Given the description of an element on the screen output the (x, y) to click on. 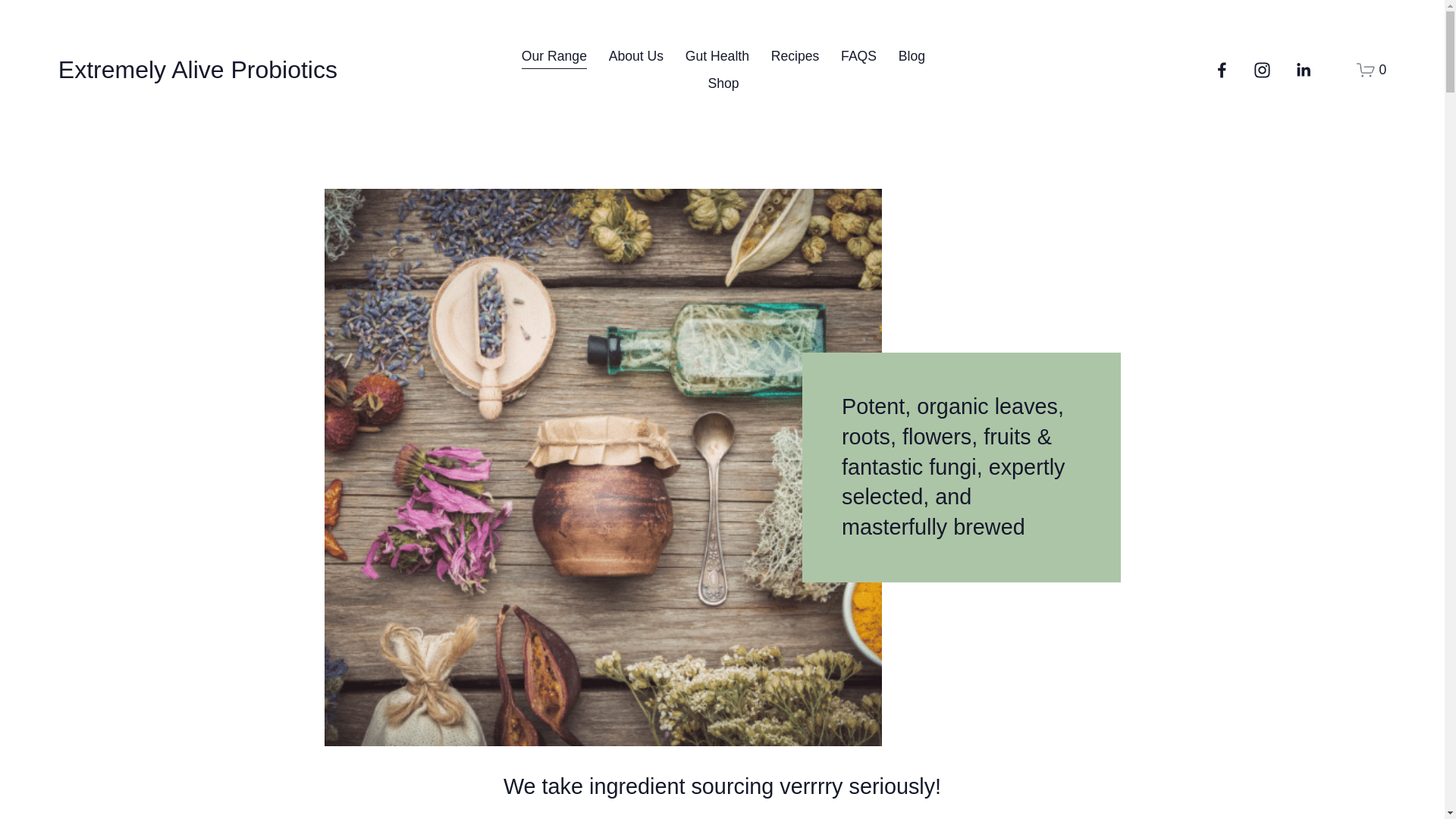
Shop Element type: text (722, 83)
Blog Element type: text (911, 56)
FAQS Element type: text (858, 56)
Gut Health Element type: text (717, 56)
0 Element type: text (1371, 69)
Recipes Element type: text (795, 56)
Our Range Element type: text (553, 56)
About Us Element type: text (635, 56)
Extremely Alive Probiotics Element type: text (197, 69)
